Given the description of an element on the screen output the (x, y) to click on. 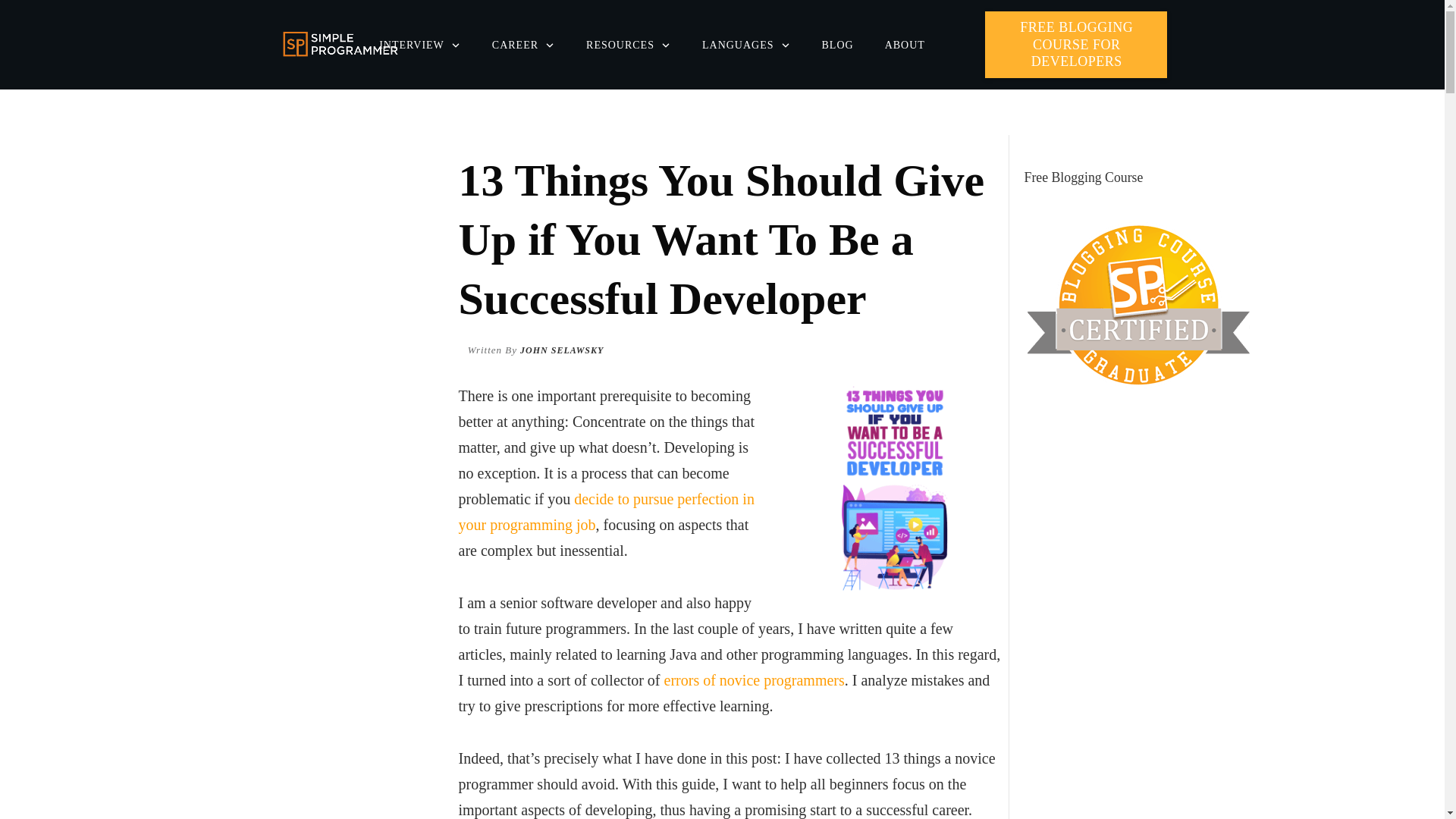
John Selawsky (561, 348)
LANGUAGES (745, 45)
INTERVIEW (419, 45)
JOHN SELAWSKY (561, 348)
CAREER (523, 45)
FREE BLOGGING COURSE FOR DEVELOPERS (1076, 44)
ABOUT (904, 45)
decide to pursue perfection in your programming job (606, 511)
RESOURCES (628, 45)
BLOG (837, 45)
